Given the description of an element on the screen output the (x, y) to click on. 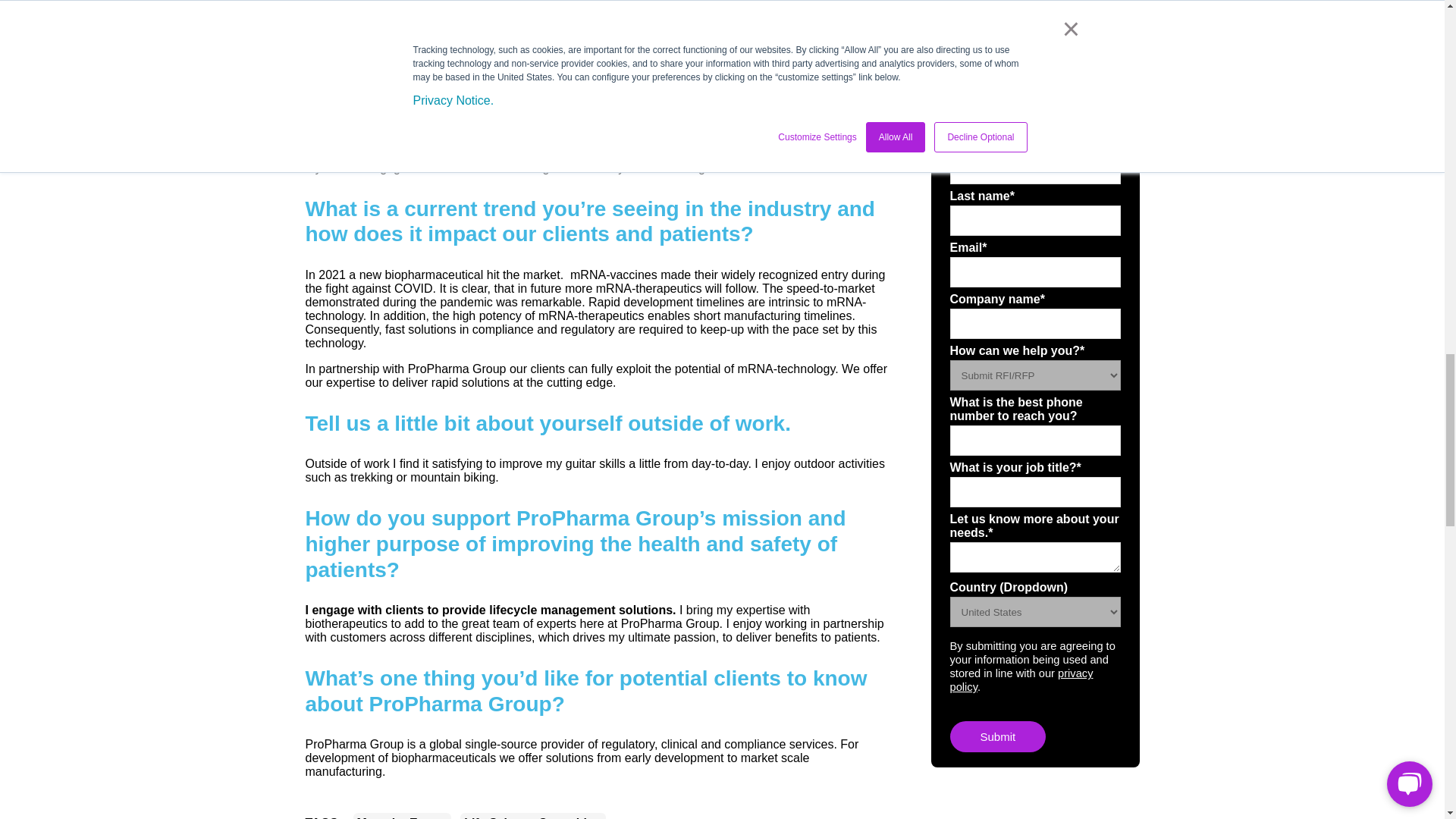
Submit (997, 364)
